Given the description of an element on the screen output the (x, y) to click on. 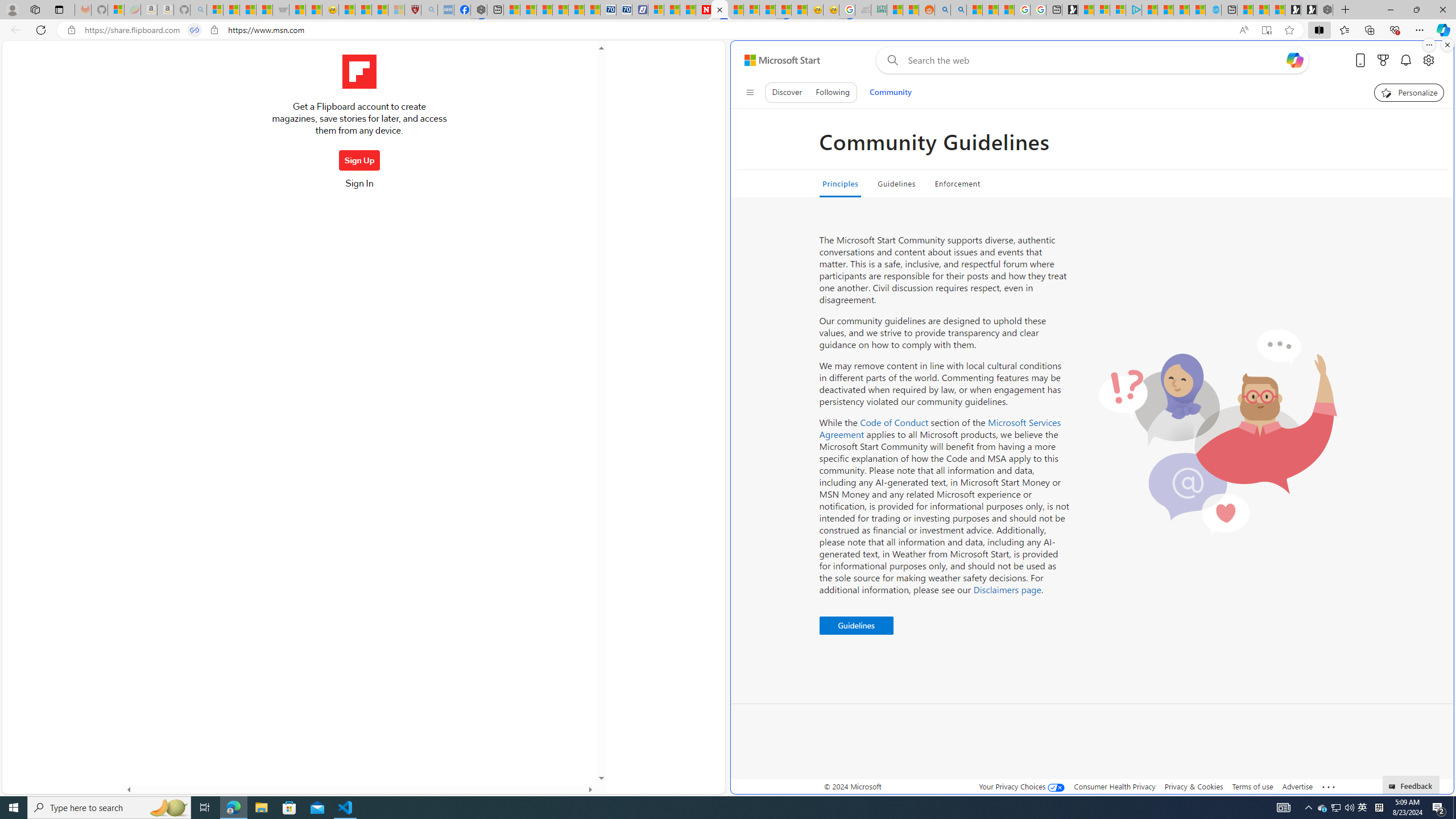
Your Privacy Choices (1021, 785)
Stocks - MSN (264, 9)
Advertise (1297, 786)
Web search (890, 60)
Two people reacting contents (1216, 432)
Terms of use (1252, 786)
14 Common Myths Debunked By Scientific Facts (735, 9)
Microsoft account | Privacy (1118, 9)
Utah sues federal government - Search (958, 9)
Feedback (1411, 784)
See more (1328, 787)
